Given the description of an element on the screen output the (x, y) to click on. 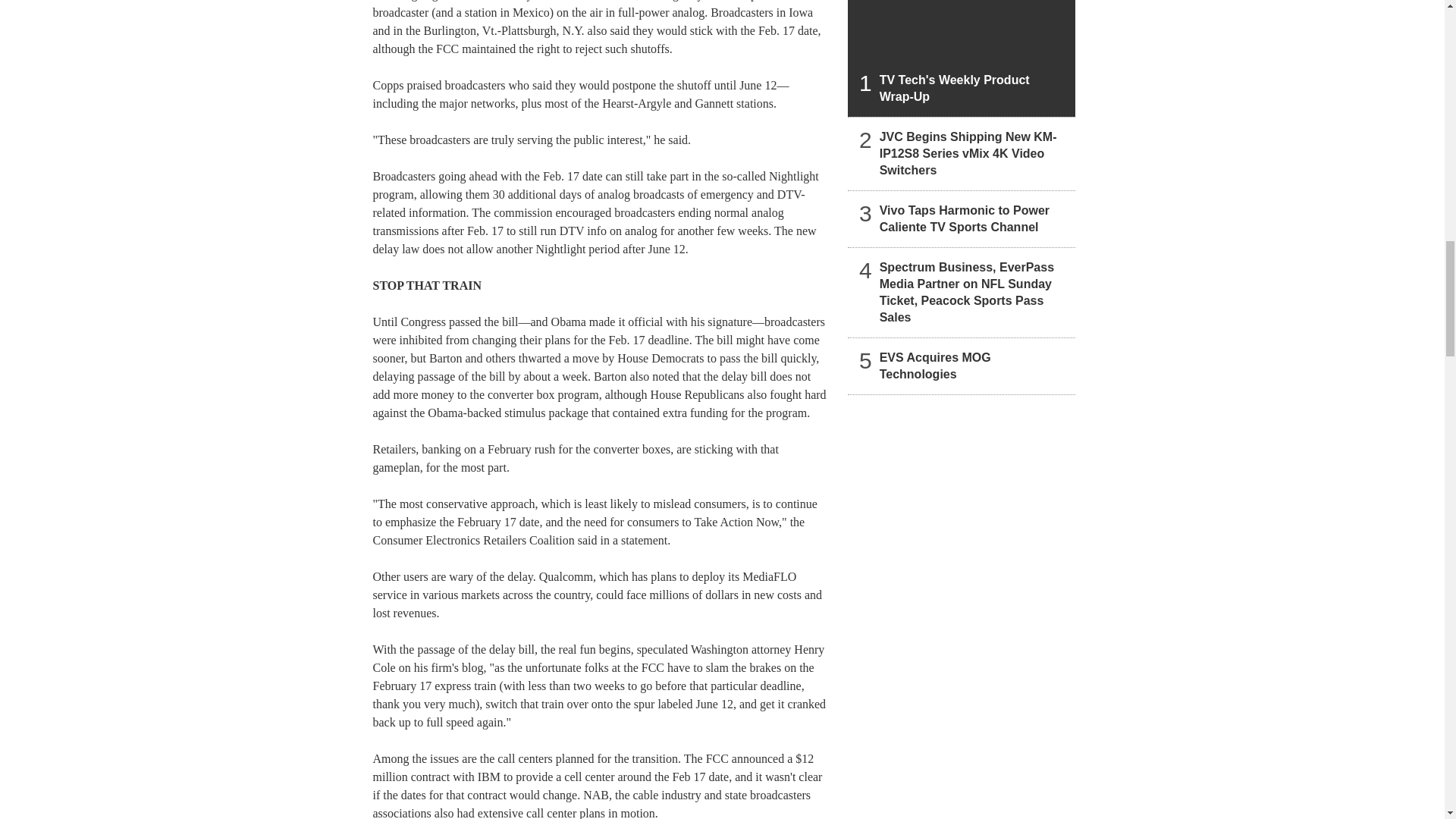
TV Tech's Weekly Product Wrap-Up (961, 58)
